Given the description of an element on the screen output the (x, y) to click on. 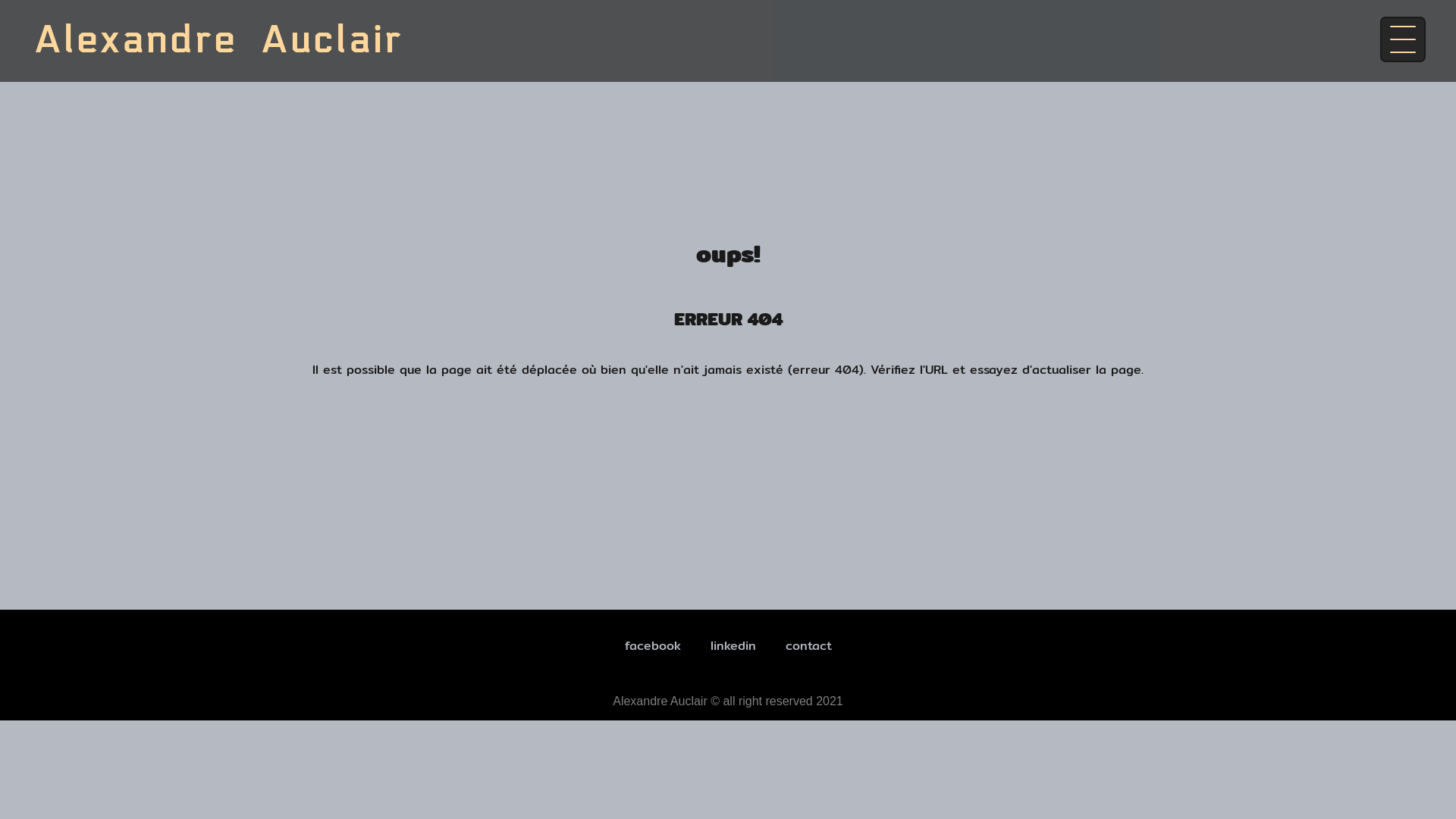
linkedin Element type: text (732, 645)
contact Element type: text (808, 645)
Alexandre Auclair Element type: text (217, 40)
facebook Element type: text (652, 645)
